Given the description of an element on the screen output the (x, y) to click on. 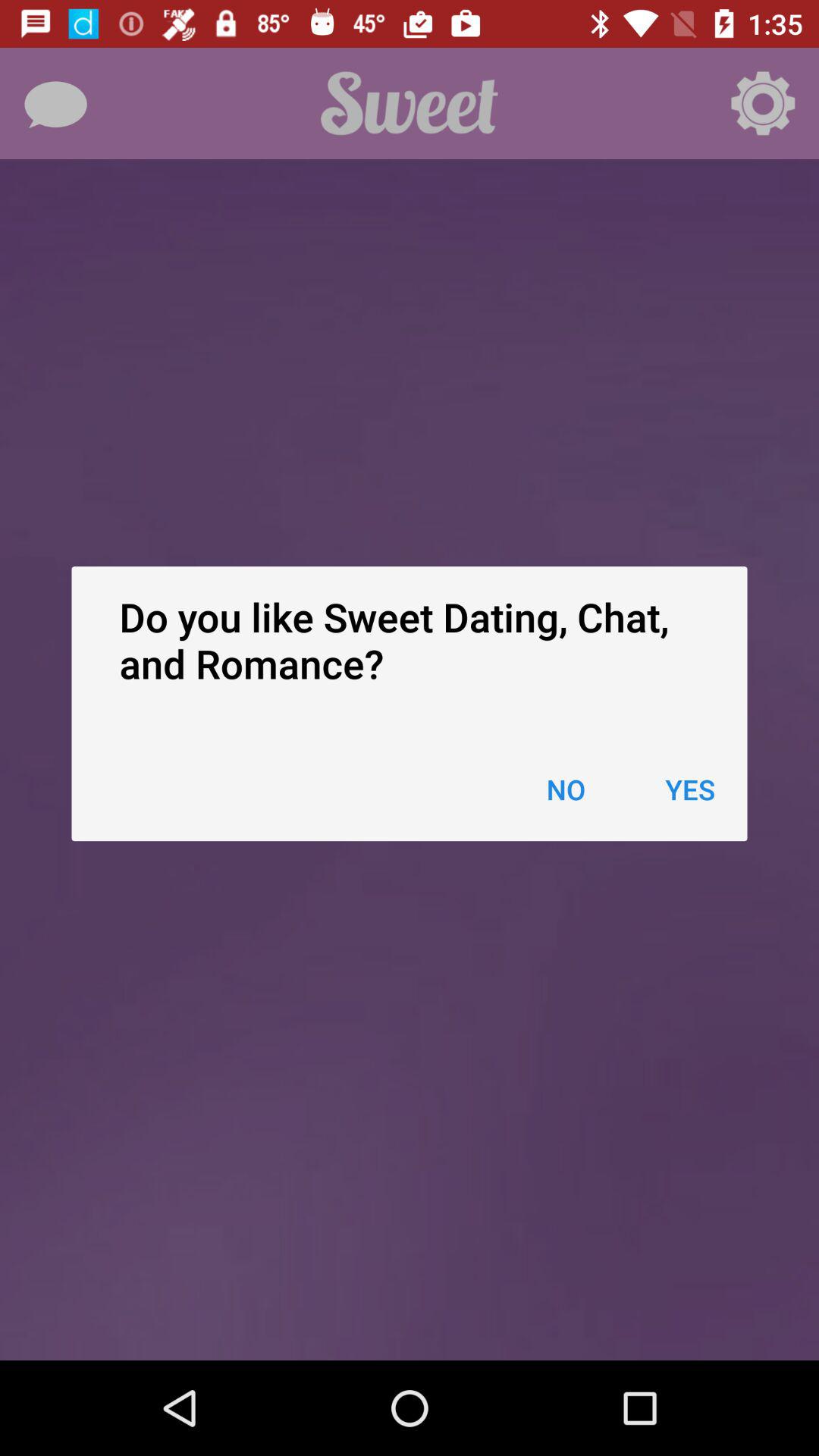
swipe until no (565, 789)
